Given the description of an element on the screen output the (x, y) to click on. 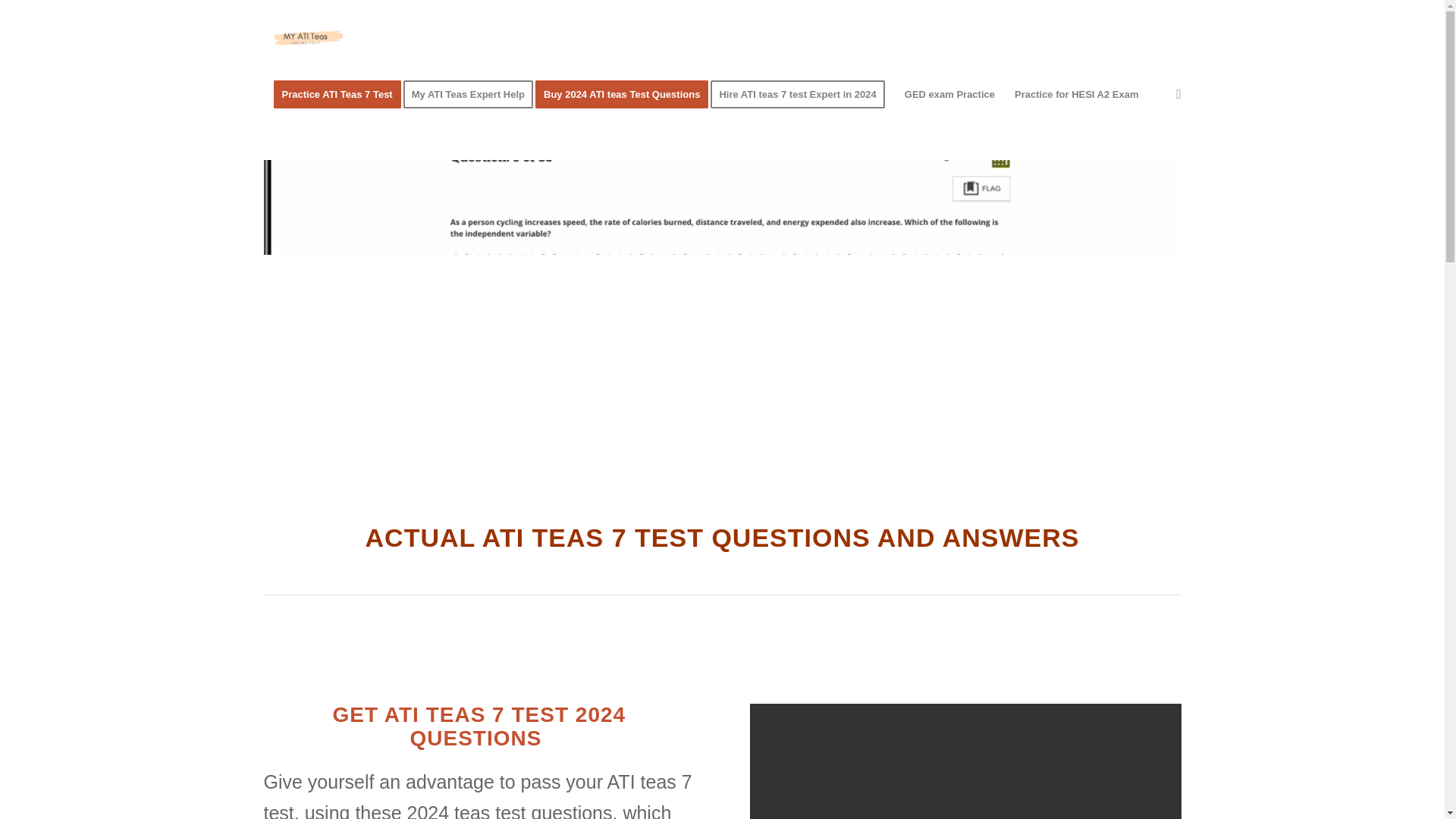
Buy 2024 ATI teas Test Questions (626, 94)
Hire ATI teas 7 test Expert in 2024 (801, 94)
My ATI Teas Expert Help (473, 94)
GED exam Practice (949, 94)
Practice for HESI A2 Exam (1076, 94)
Practice ATI Teas 7 Test (336, 94)
